Given the description of an element on the screen output the (x, y) to click on. 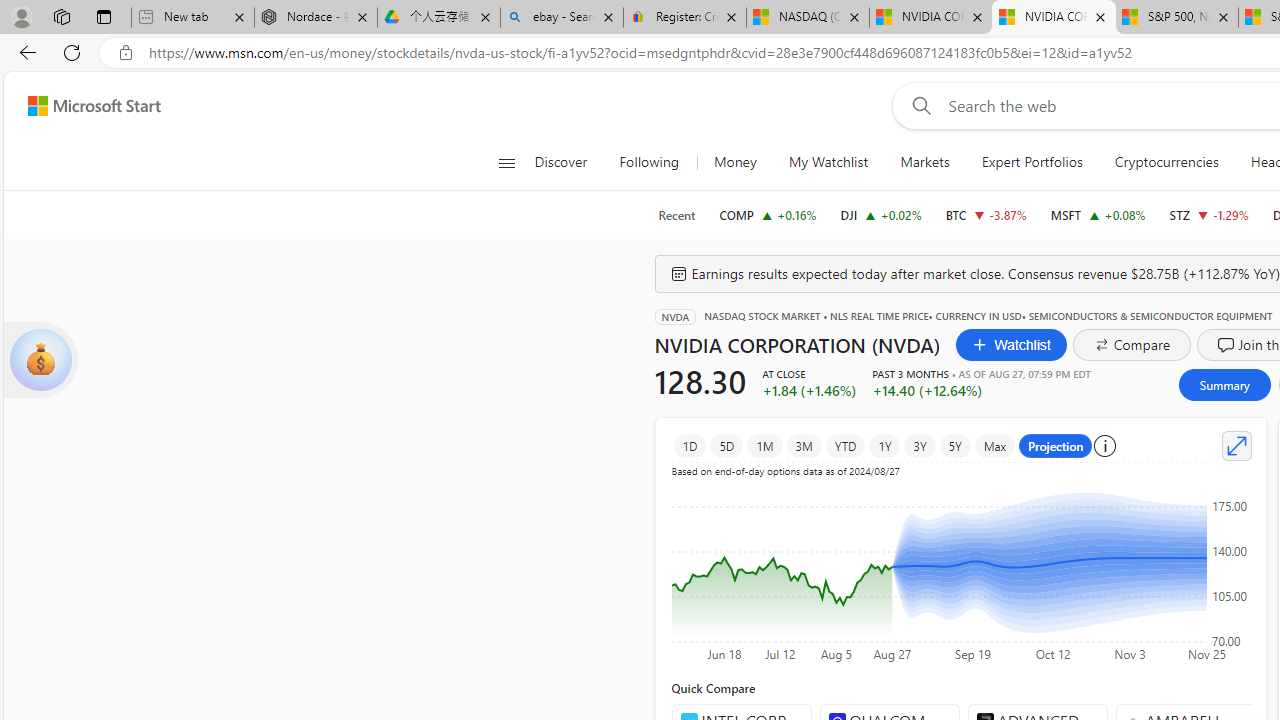
Cryptocurrencies (1166, 162)
show card (40, 359)
Summary (1224, 384)
5Y (955, 445)
1M (765, 445)
COMP NASDAQ increase 17,754.82 +29.06 +0.16% (767, 214)
Compare (1131, 344)
